Given the description of an element on the screen output the (x, y) to click on. 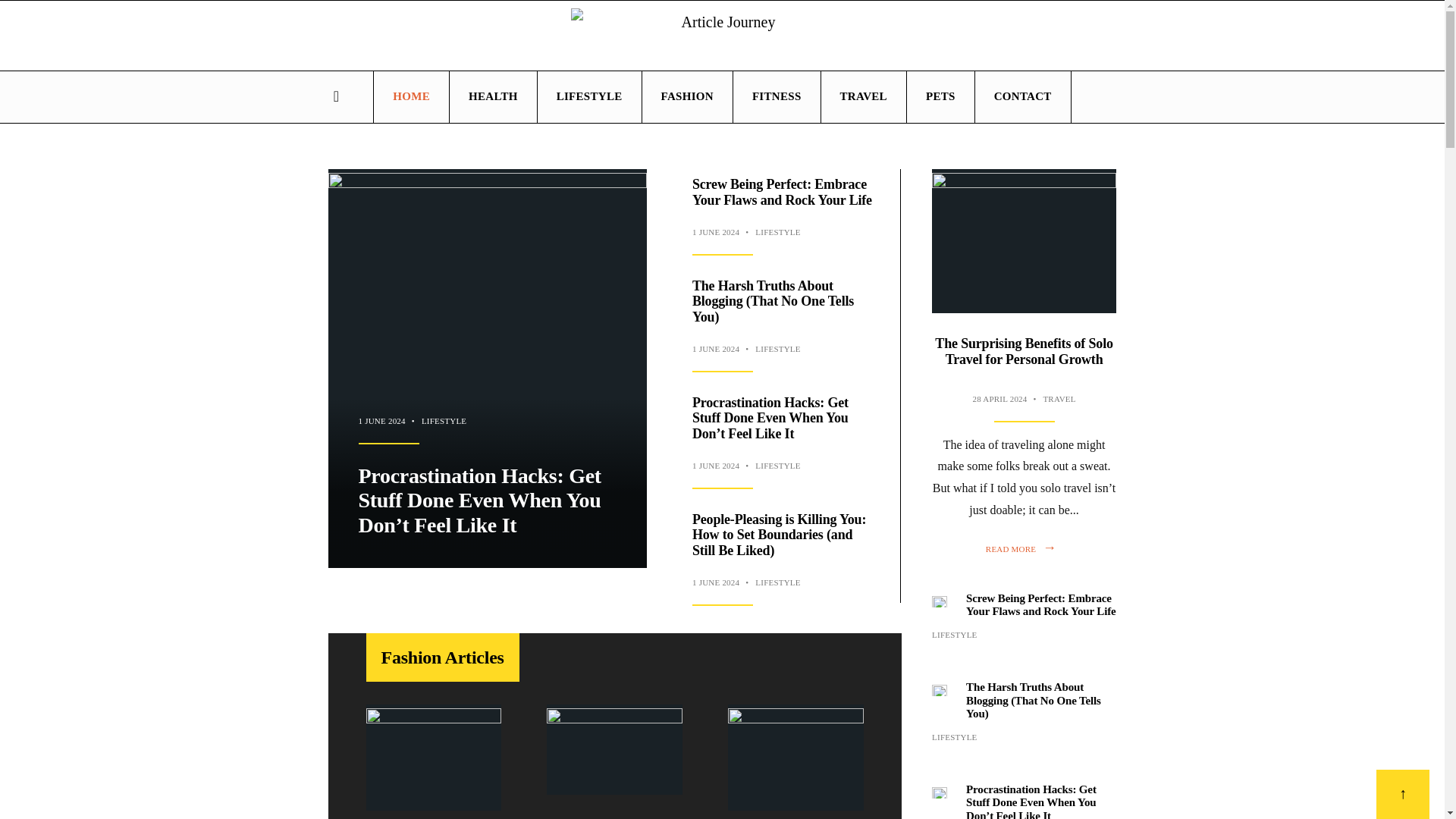
CONTACT (1022, 96)
LIFESTYLE (777, 231)
HOME (410, 96)
LIFESTYLE (777, 347)
FASHION (686, 96)
FITNESS (776, 96)
LIFESTYLE (777, 465)
Screw Being Perfect: Embrace Your Flaws and Rock Your Life (782, 192)
TRAVEL (862, 96)
LIFESTYLE (589, 96)
